Given the description of an element on the screen output the (x, y) to click on. 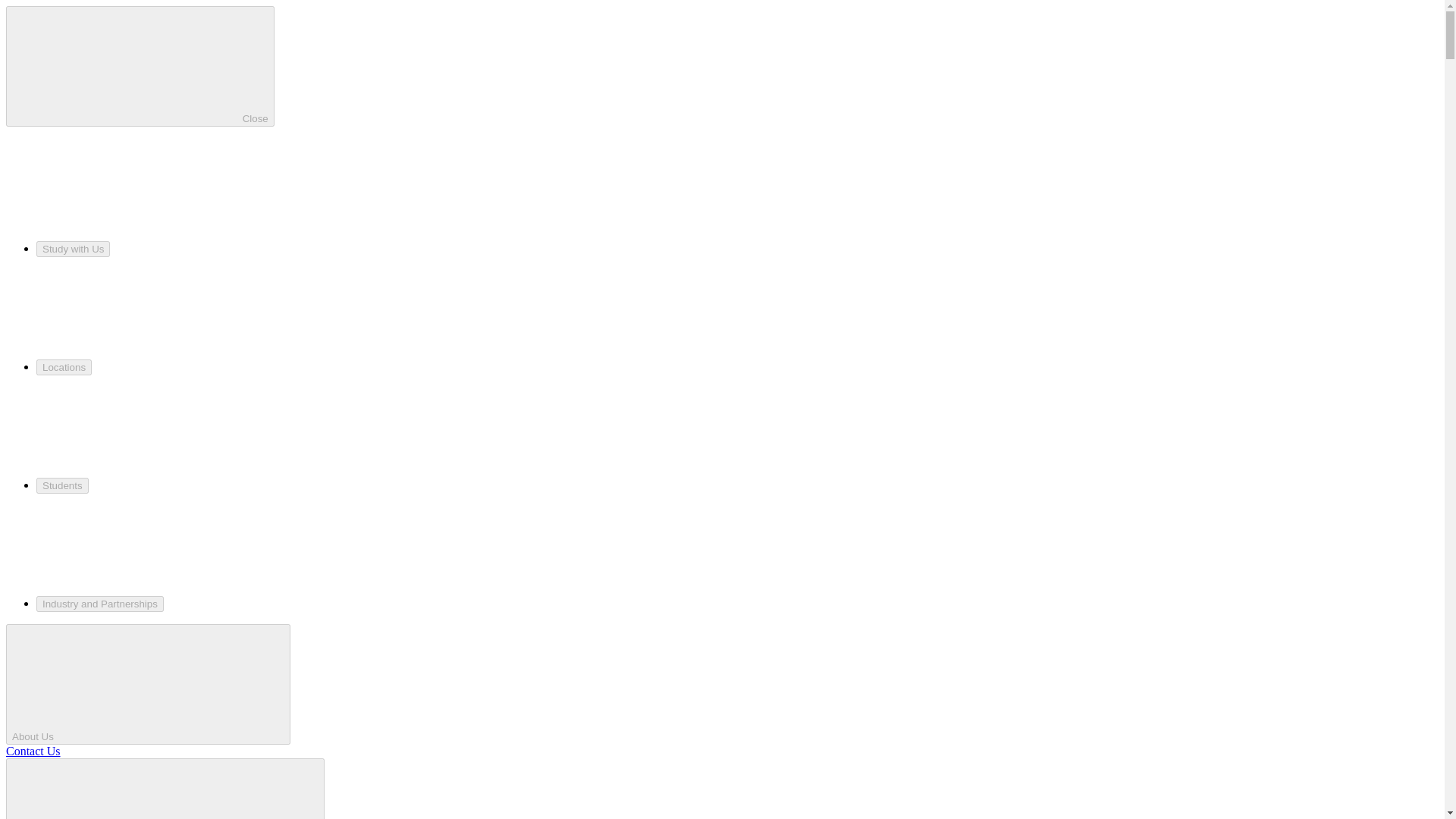
Close (140, 65)
About Us (147, 684)
Students (62, 485)
Industry and Partnerships (99, 603)
Locations (63, 367)
Contact Us (33, 750)
Study with Us (73, 248)
Current Students (164, 788)
